Given the description of an element on the screen output the (x, y) to click on. 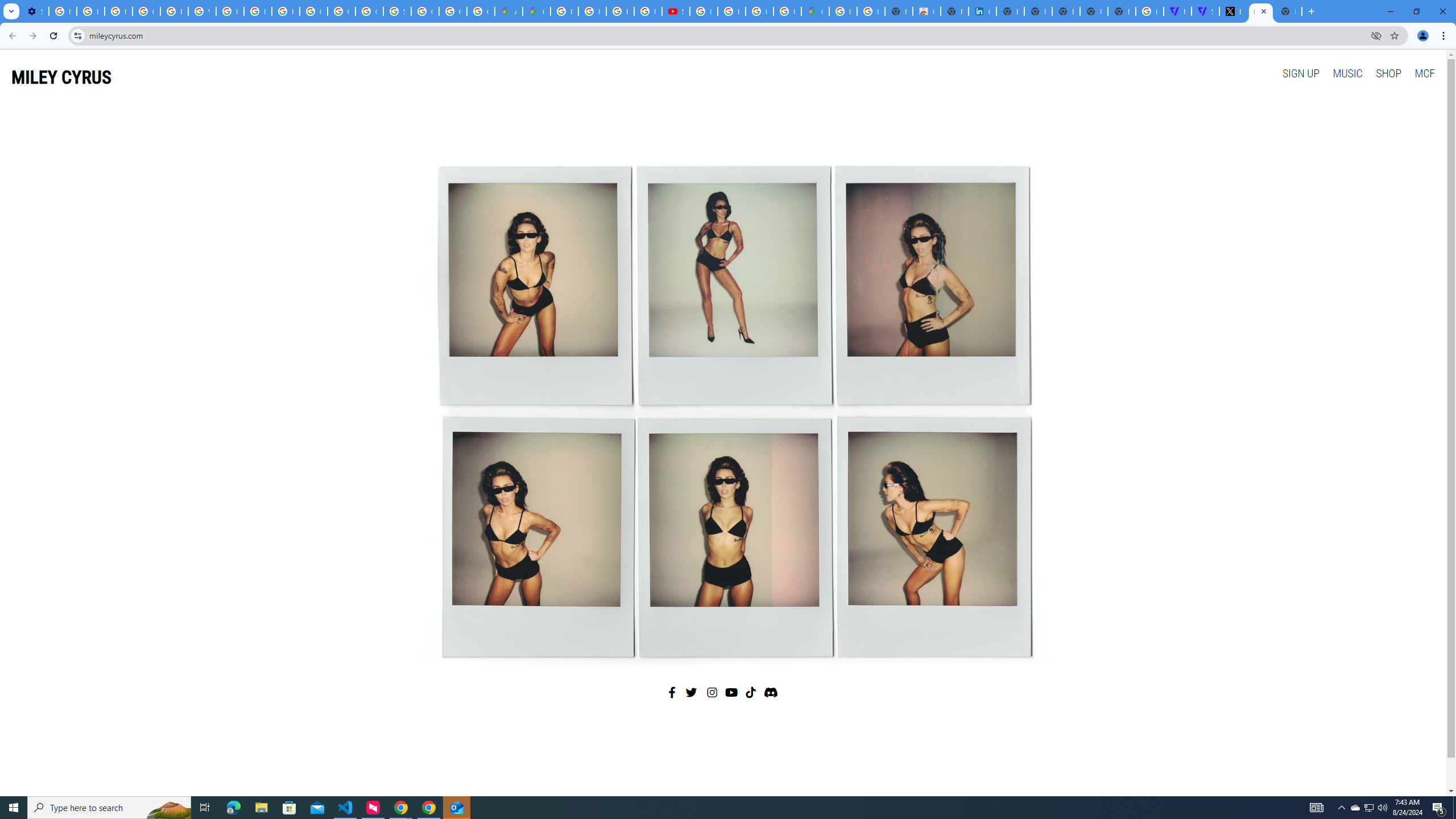
Cookie Policy | LinkedIn (982, 11)
Settings - Customize profile (34, 11)
Facebook (671, 692)
Google Account Help (146, 11)
Subscriptions - YouTube (675, 11)
Chrome Web Store (926, 11)
MUSIC (1347, 73)
